Given the description of an element on the screen output the (x, y) to click on. 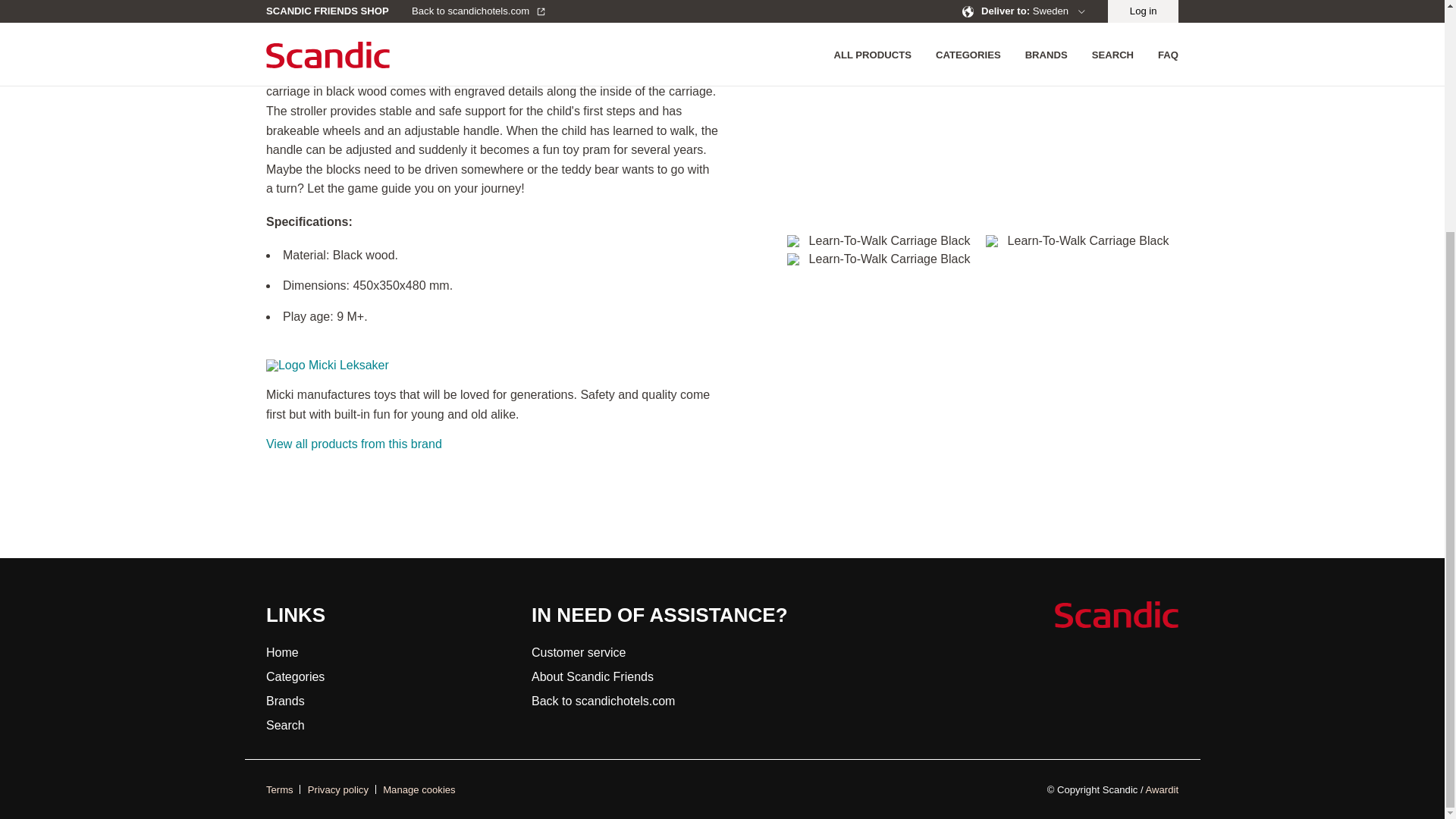
Privacy policy (341, 789)
Terms (282, 789)
Home (282, 652)
Manage cookies (418, 789)
Back to scandichotels.com (603, 701)
Awardit (1161, 789)
Go to home page (1115, 614)
View all products from this brand (354, 443)
Customer service (578, 652)
About Scandic Friends (592, 677)
